Given the description of an element on the screen output the (x, y) to click on. 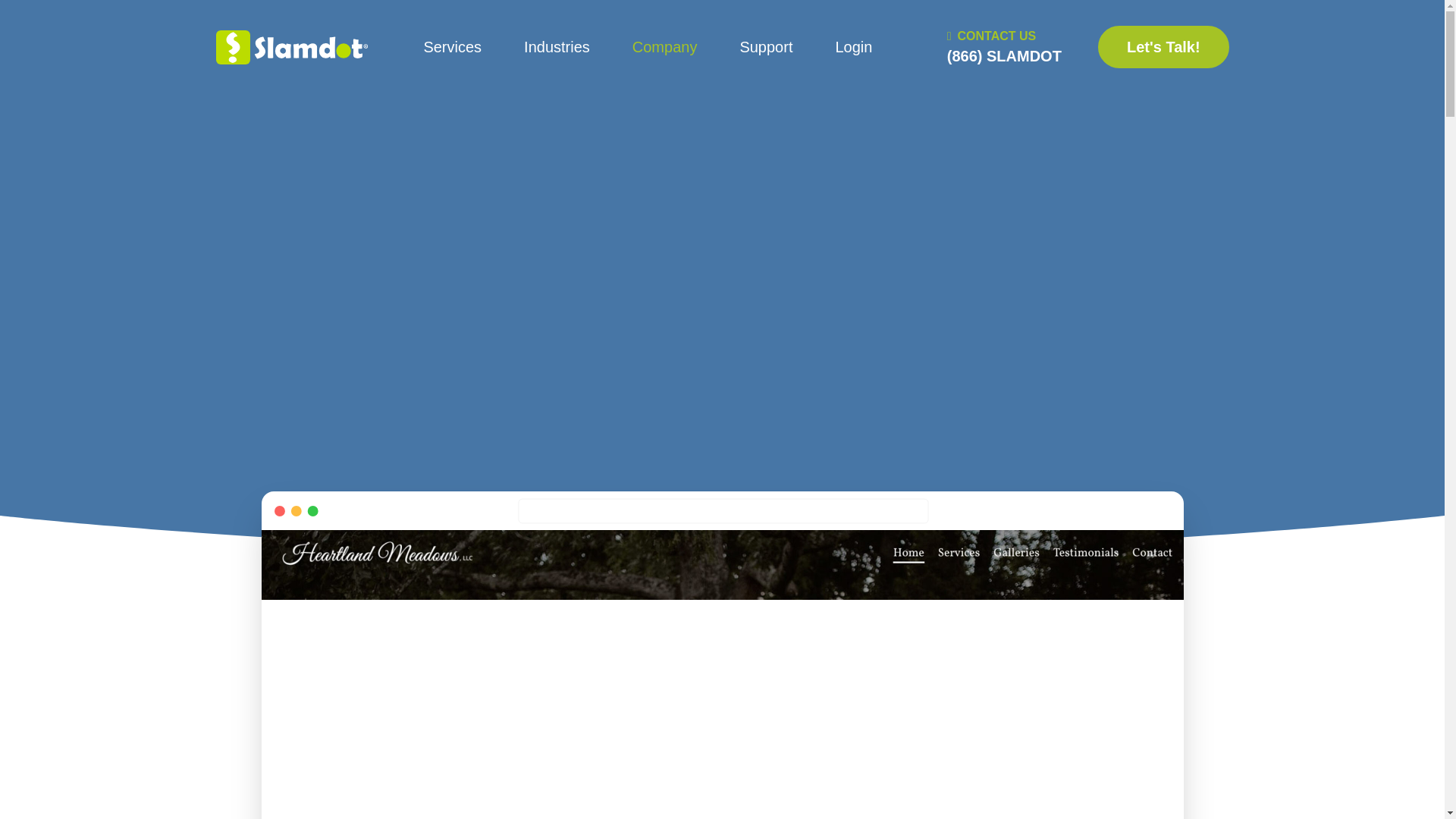
Services (451, 46)
Industries (557, 46)
Slamdot (290, 47)
Company (665, 46)
